Given the description of an element on the screen output the (x, y) to click on. 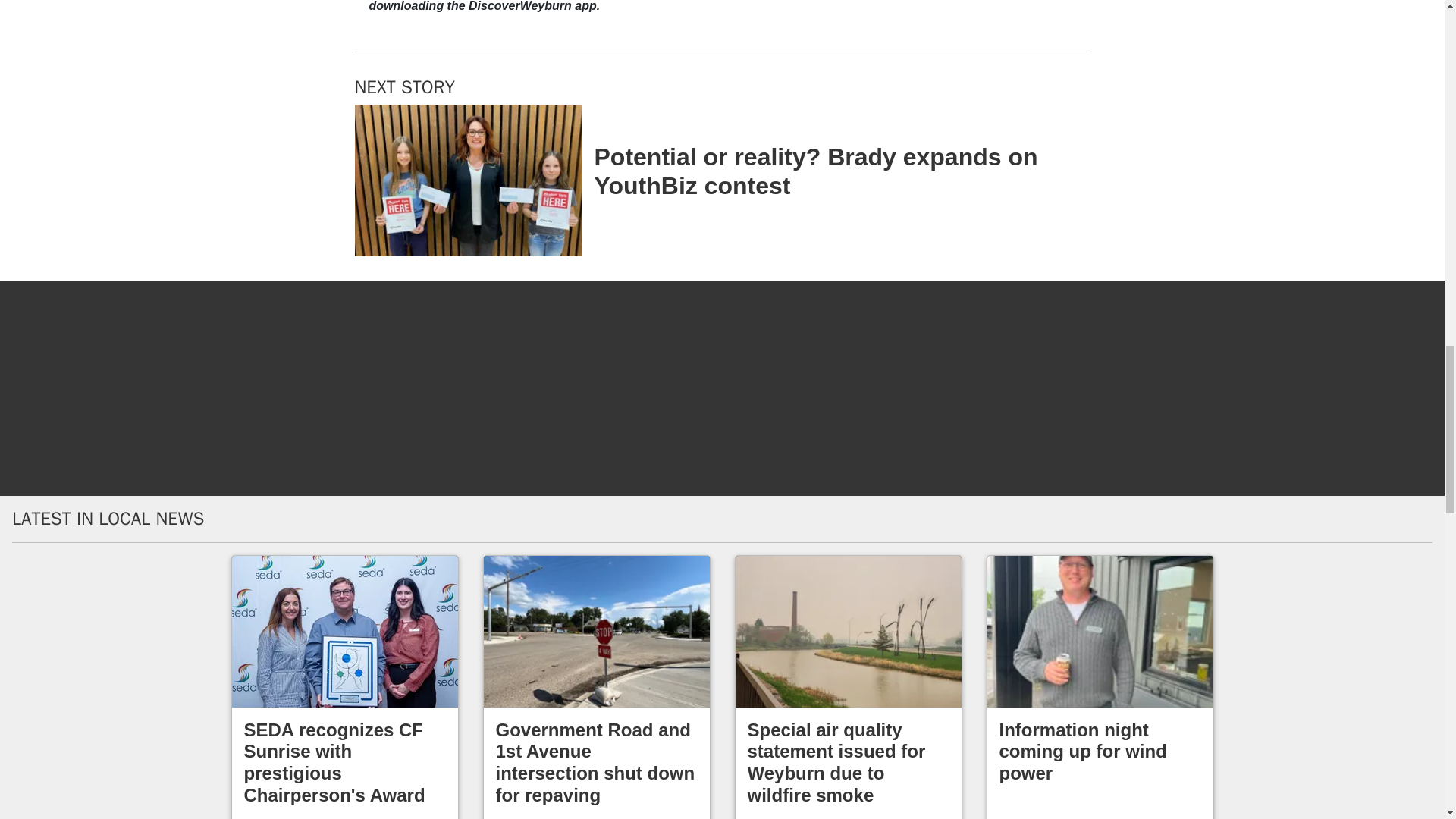
3rd party ad content (961, 13)
